Given the description of an element on the screen output the (x, y) to click on. 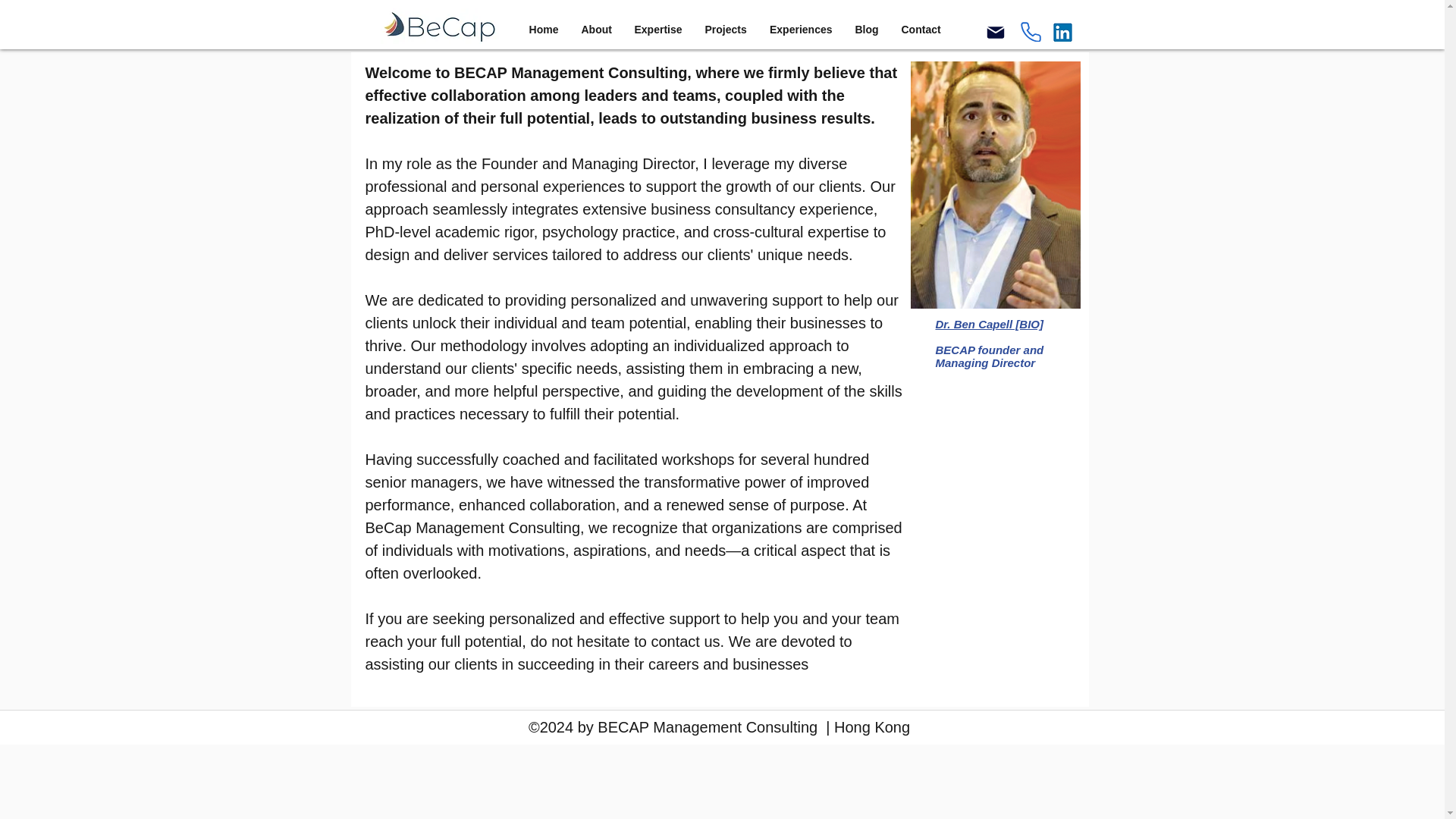
Experiences (801, 29)
Contact (920, 29)
Home (542, 29)
Blog (866, 29)
Expertise (658, 29)
Projects (725, 29)
About (596, 29)
